Given the description of an element on the screen output the (x, y) to click on. 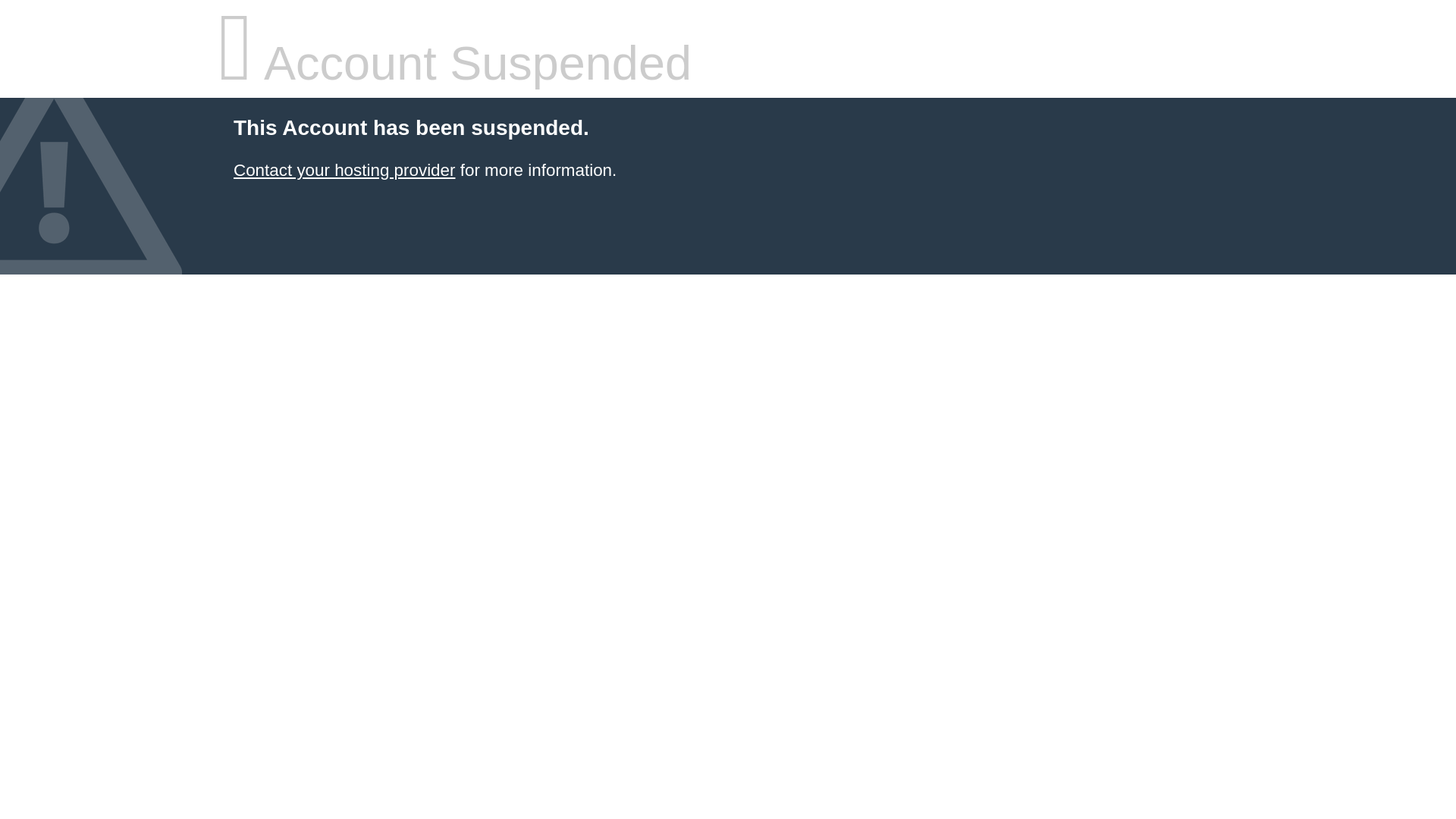
Contact your hosting provider (343, 169)
